Given the description of an element on the screen output the (x, y) to click on. 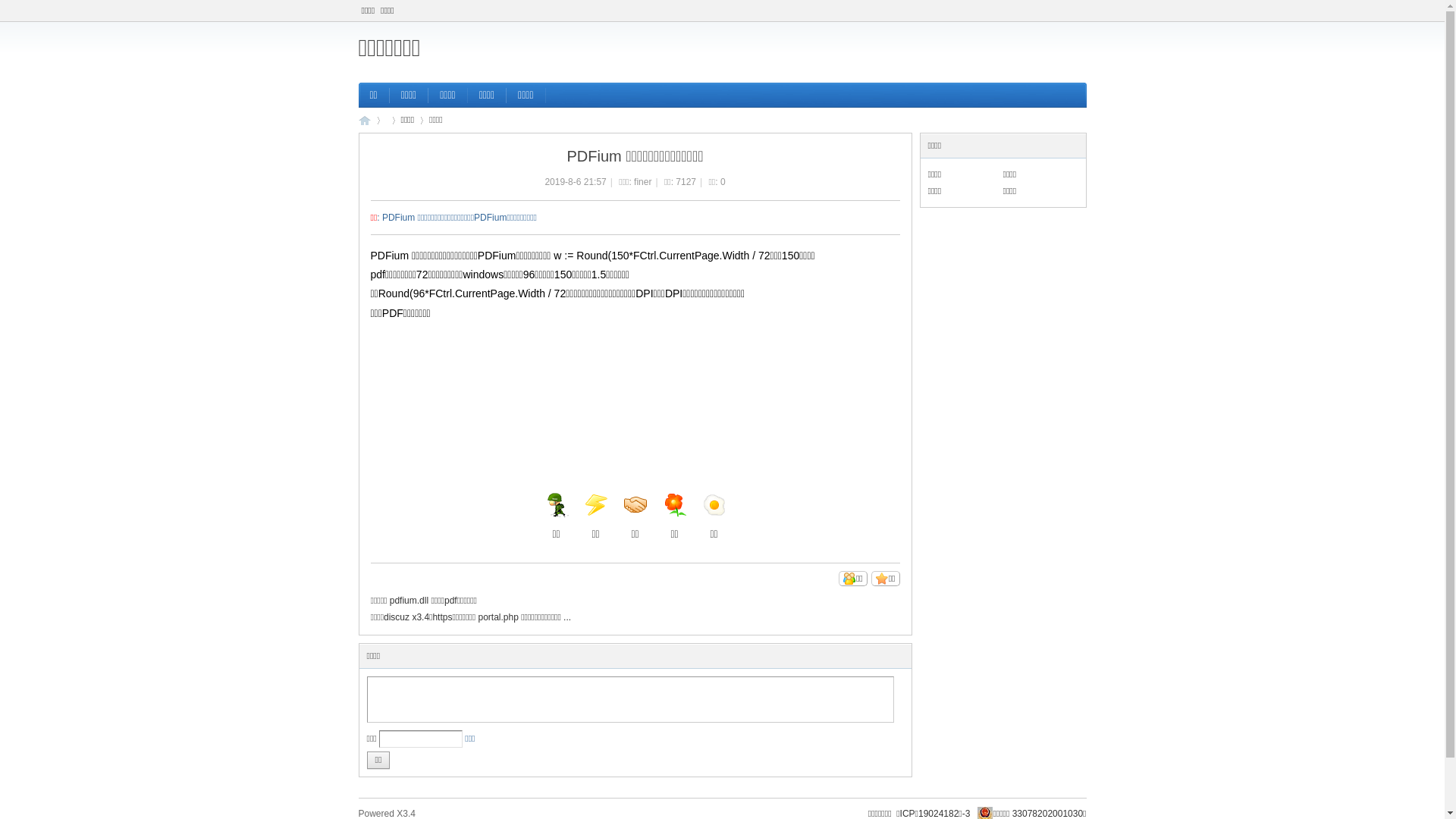
finer Element type: text (642, 181)
